Given the description of an element on the screen output the (x, y) to click on. 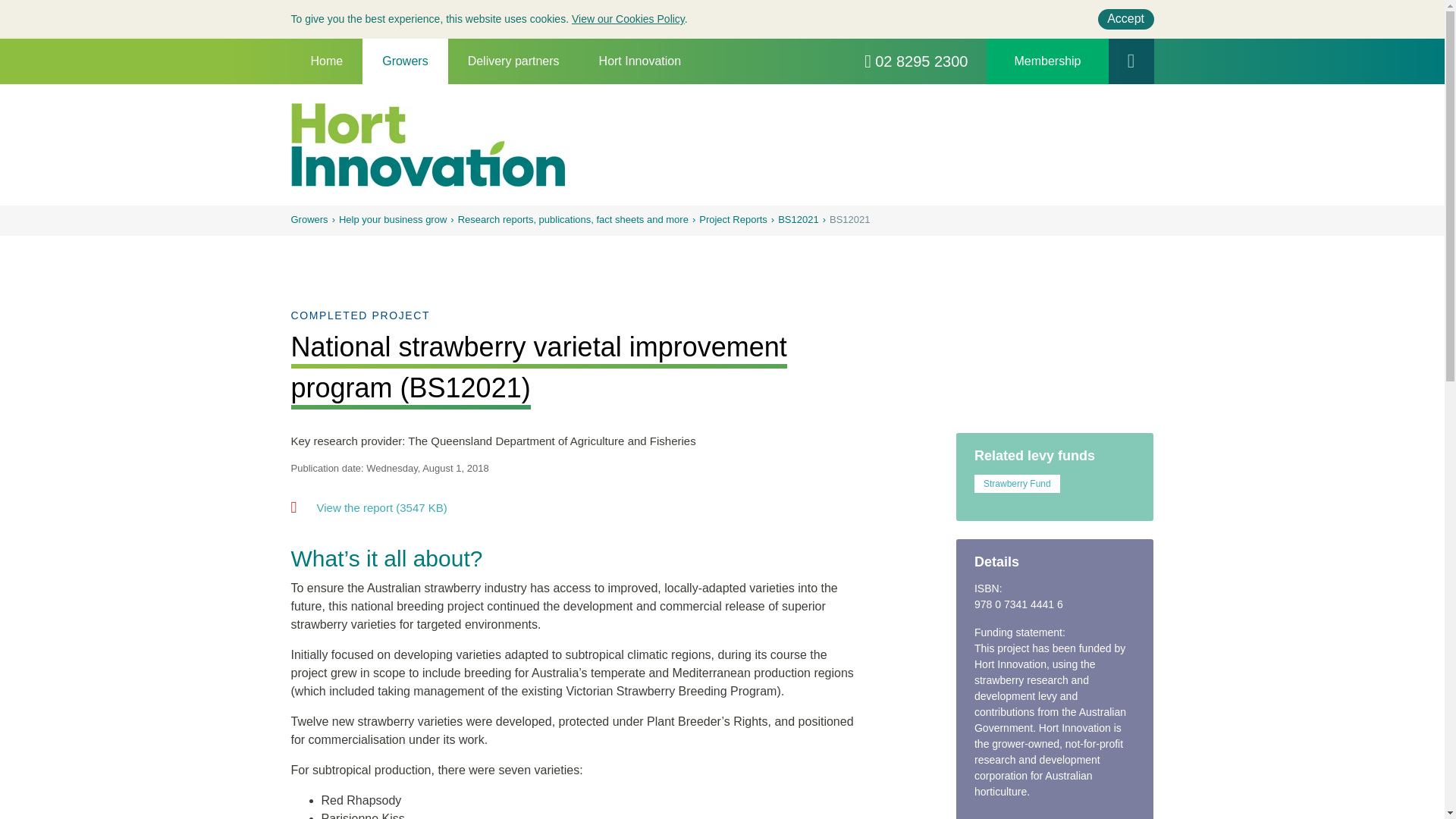
Delivery partners (513, 61)
Home (326, 61)
Growers (404, 61)
Accept (1125, 19)
02 8295 2300 (916, 60)
View our Cookies Policy (628, 19)
